Given the description of an element on the screen output the (x, y) to click on. 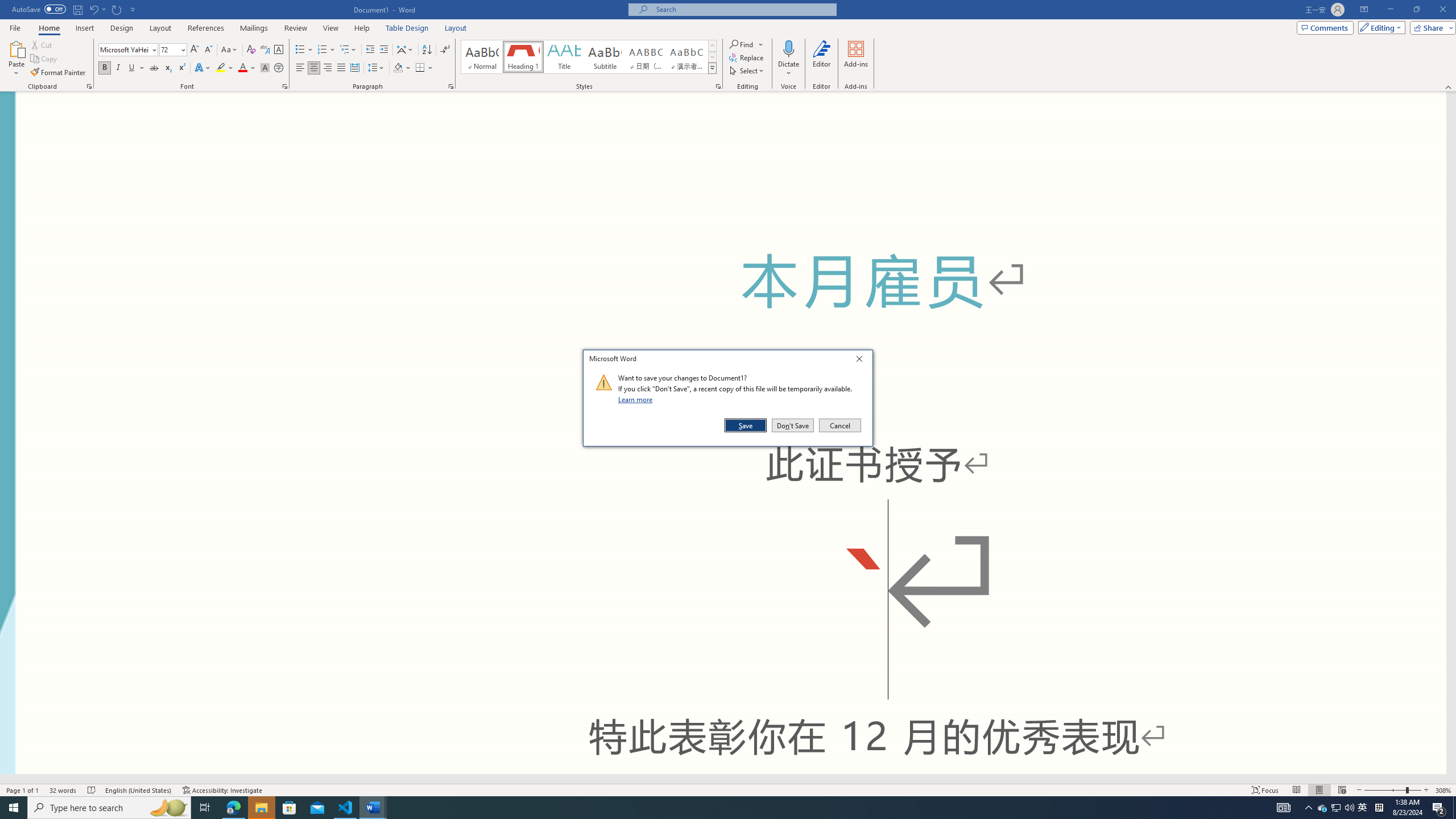
Multilevel List (347, 49)
Action Center, 2 new notifications (1439, 807)
Decrease Indent (370, 49)
Task View (204, 807)
Type here to search (108, 807)
